Given the description of an element on the screen output the (x, y) to click on. 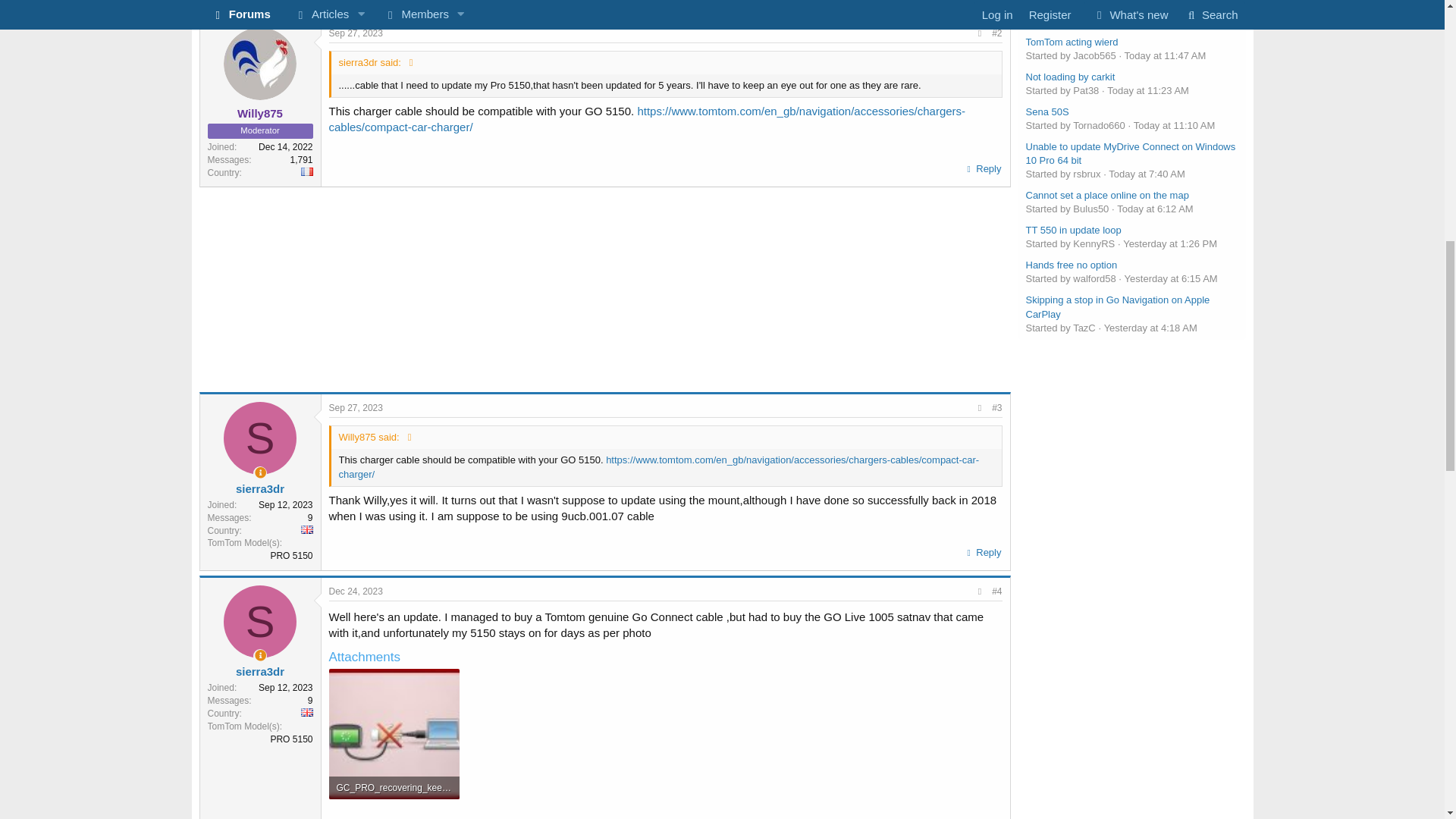
Reply, quoting this message (982, 168)
Willy875 (259, 113)
Sep 27, 2023 at 4:05 PM (355, 407)
Thread Starter (260, 655)
Sep 27, 2023 at 12:24 PM (355, 32)
Reply, quoting this message (982, 552)
Thread Starter (260, 472)
Dec 24, 2023 at 9:46 AM (355, 591)
